Given the description of an element on the screen output the (x, y) to click on. 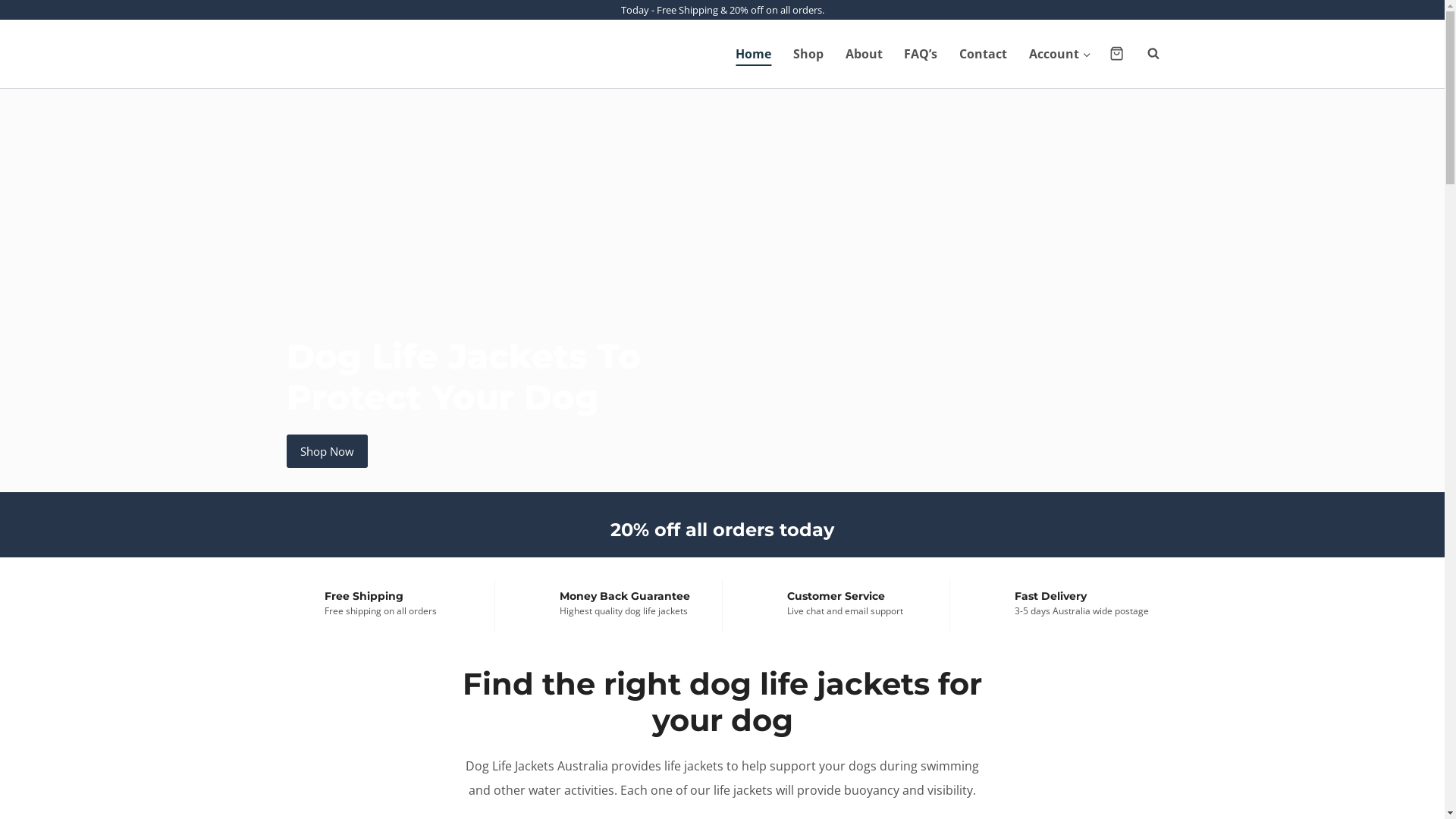
Account Element type: text (1060, 53)
Contact Element type: text (983, 53)
Shop Element type: text (807, 53)
About Element type: text (863, 53)
Shop Now Element type: text (326, 450)
Home Element type: text (753, 53)
